Given the description of an element on the screen output the (x, y) to click on. 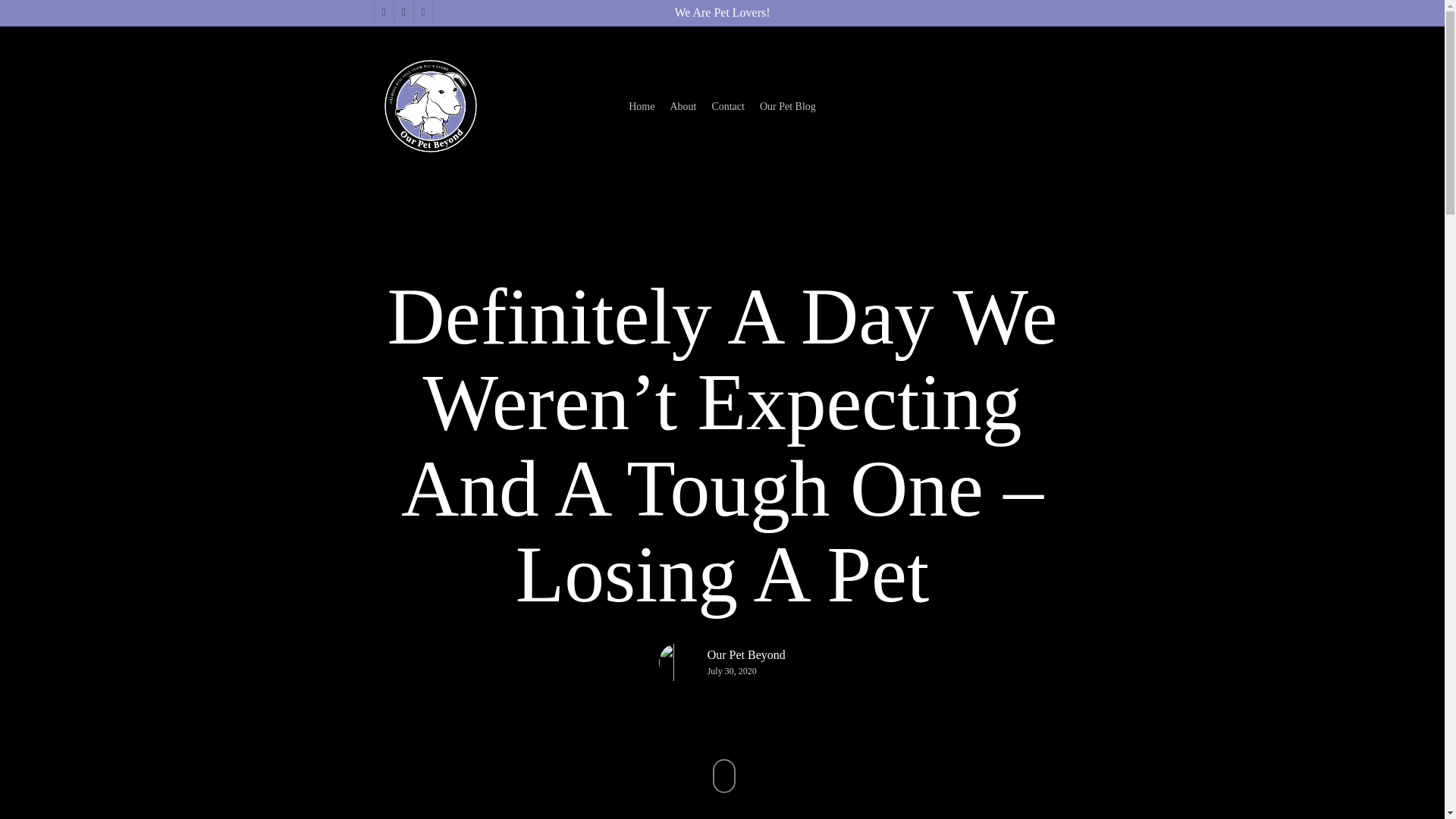
Our Pet Blog (787, 105)
Posts by Our Pet Beyond (746, 655)
We Are Pet Lovers! (722, 11)
About (682, 105)
Contact (727, 105)
Our Pet Beyond (746, 655)
Home (640, 105)
